Given the description of an element on the screen output the (x, y) to click on. 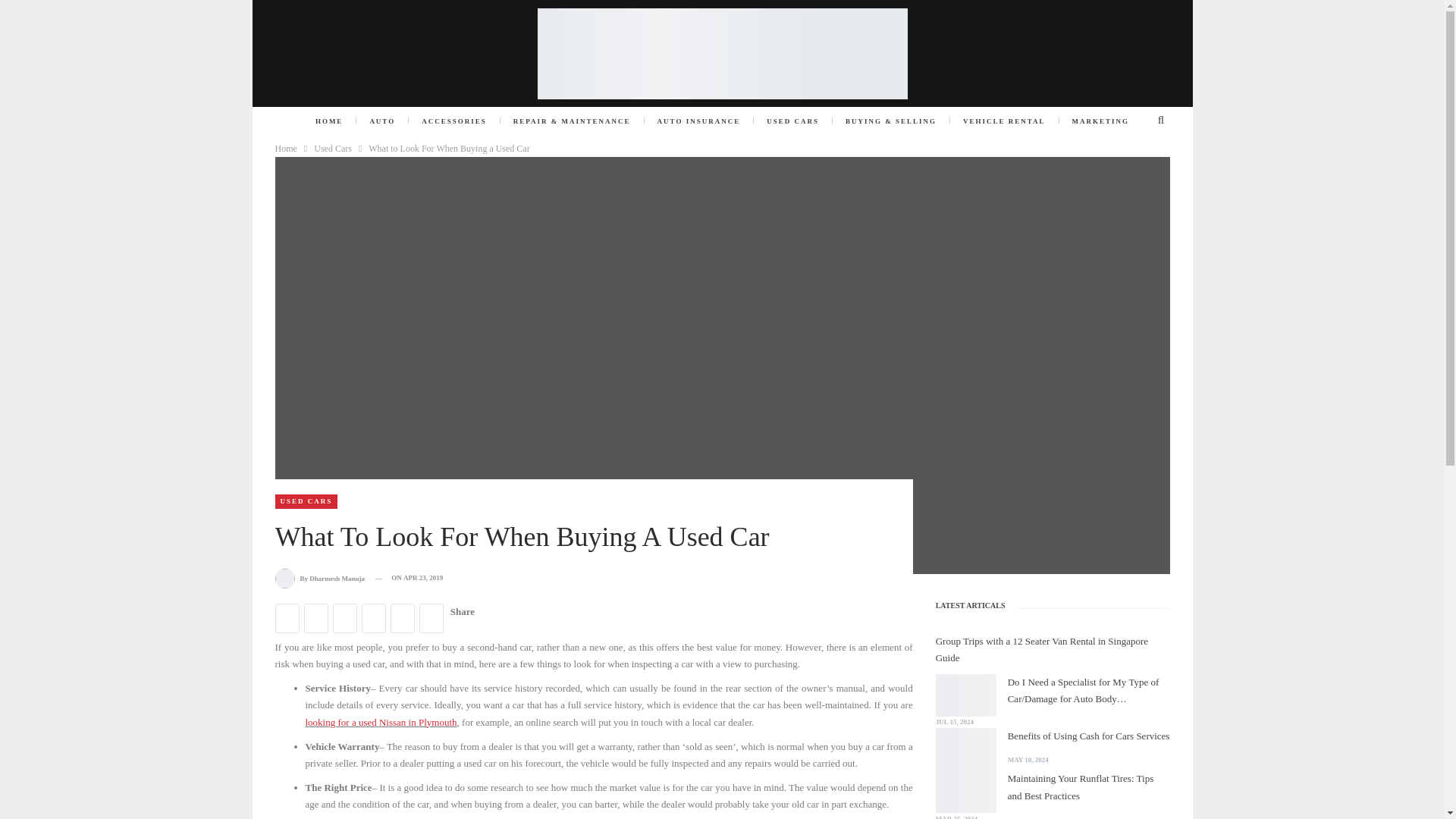
Used Cars (333, 148)
USED CARS (792, 121)
Browse Author Articles (320, 578)
looking for a used Nissan in Plymouth (380, 721)
By Dharmesh Manuja (320, 578)
VEHICLE RENTAL (1004, 121)
USED CARS (306, 501)
MARKETING (1100, 121)
AUTO (381, 121)
